Given the description of an element on the screen output the (x, y) to click on. 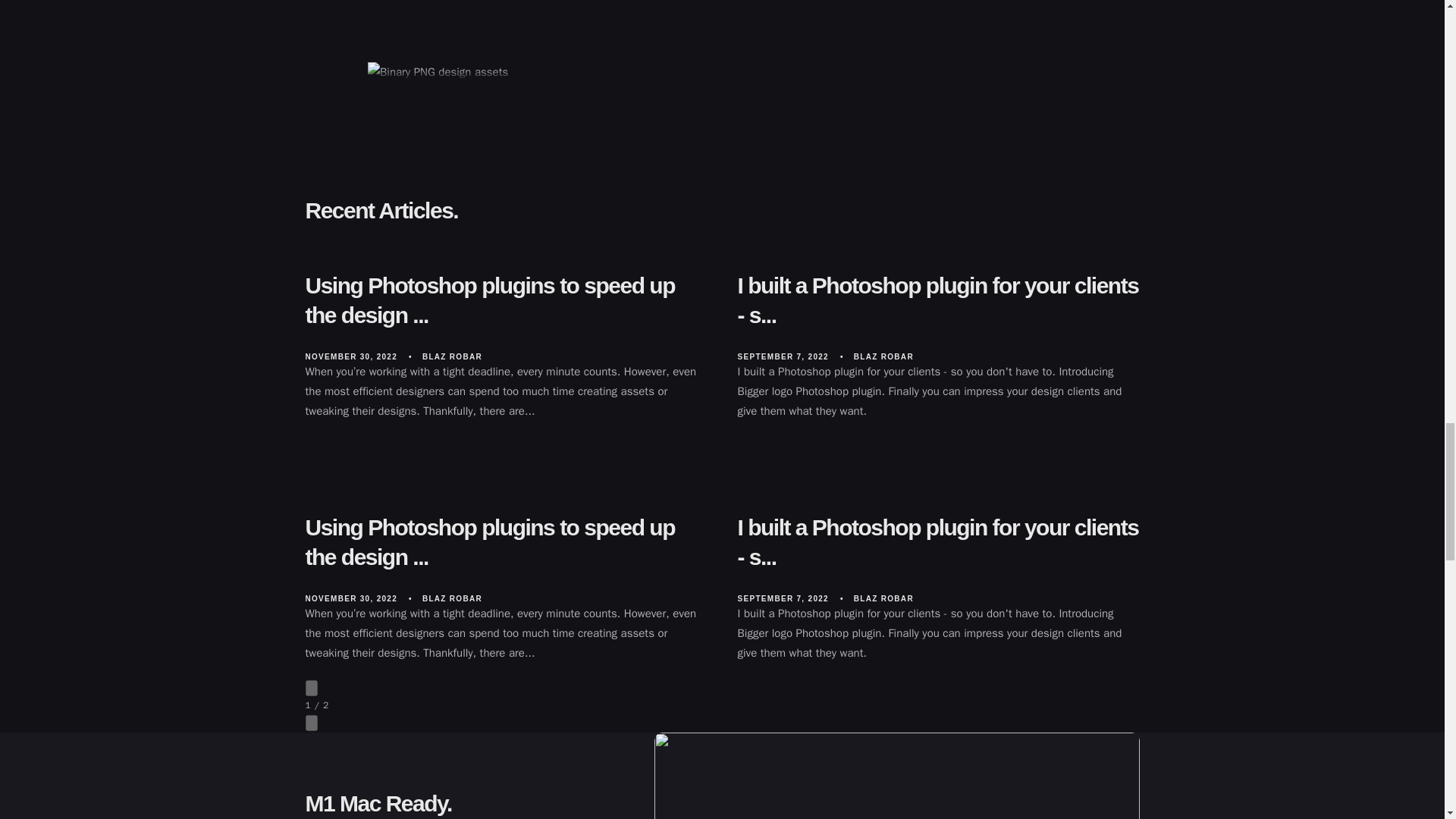
I built a Photoshop plugin for your clients - s... (937, 300)
Using Photoshop plugins to speed up the design ... (505, 300)
Using Photoshop plugins to speed up the design ... (505, 541)
